Given the description of an element on the screen output the (x, y) to click on. 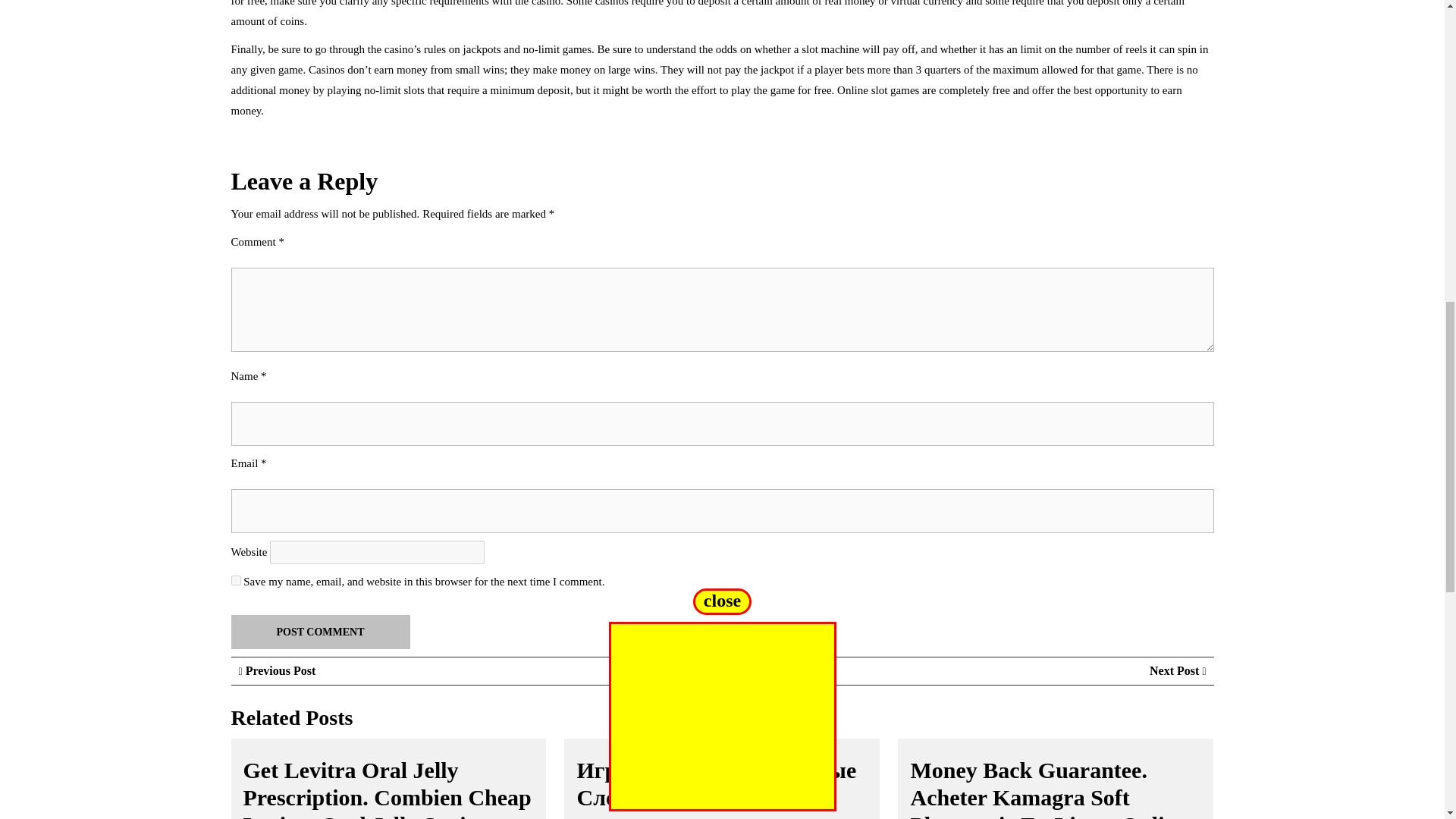
Post Comment (319, 632)
yes (235, 580)
Post Comment (319, 632)
Previous Post (276, 670)
Next Post (1177, 670)
